Given the description of an element on the screen output the (x, y) to click on. 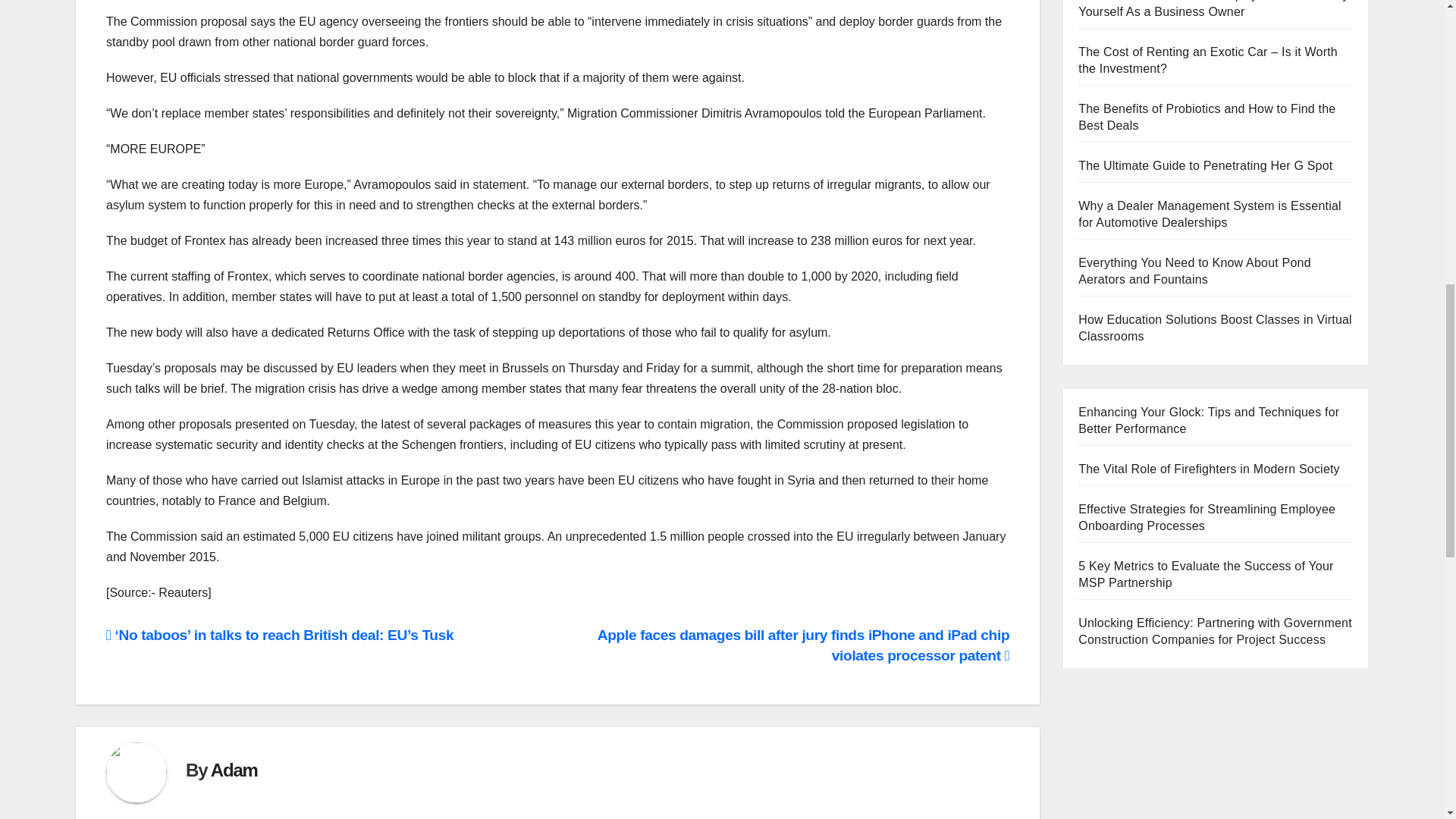
Adam (234, 770)
